Given the description of an element on the screen output the (x, y) to click on. 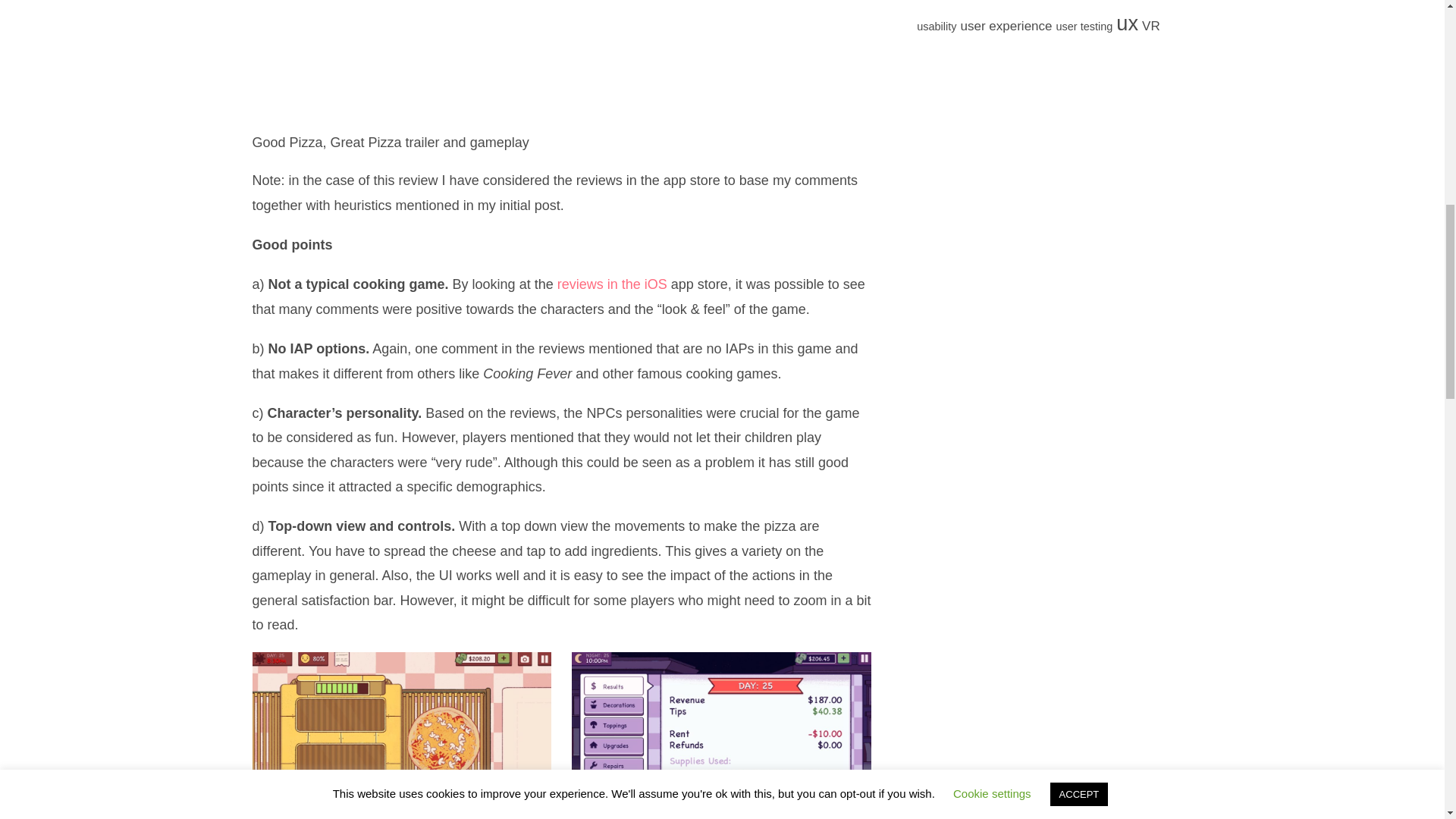
reviews in the iOS (611, 283)
